Given the description of an element on the screen output the (x, y) to click on. 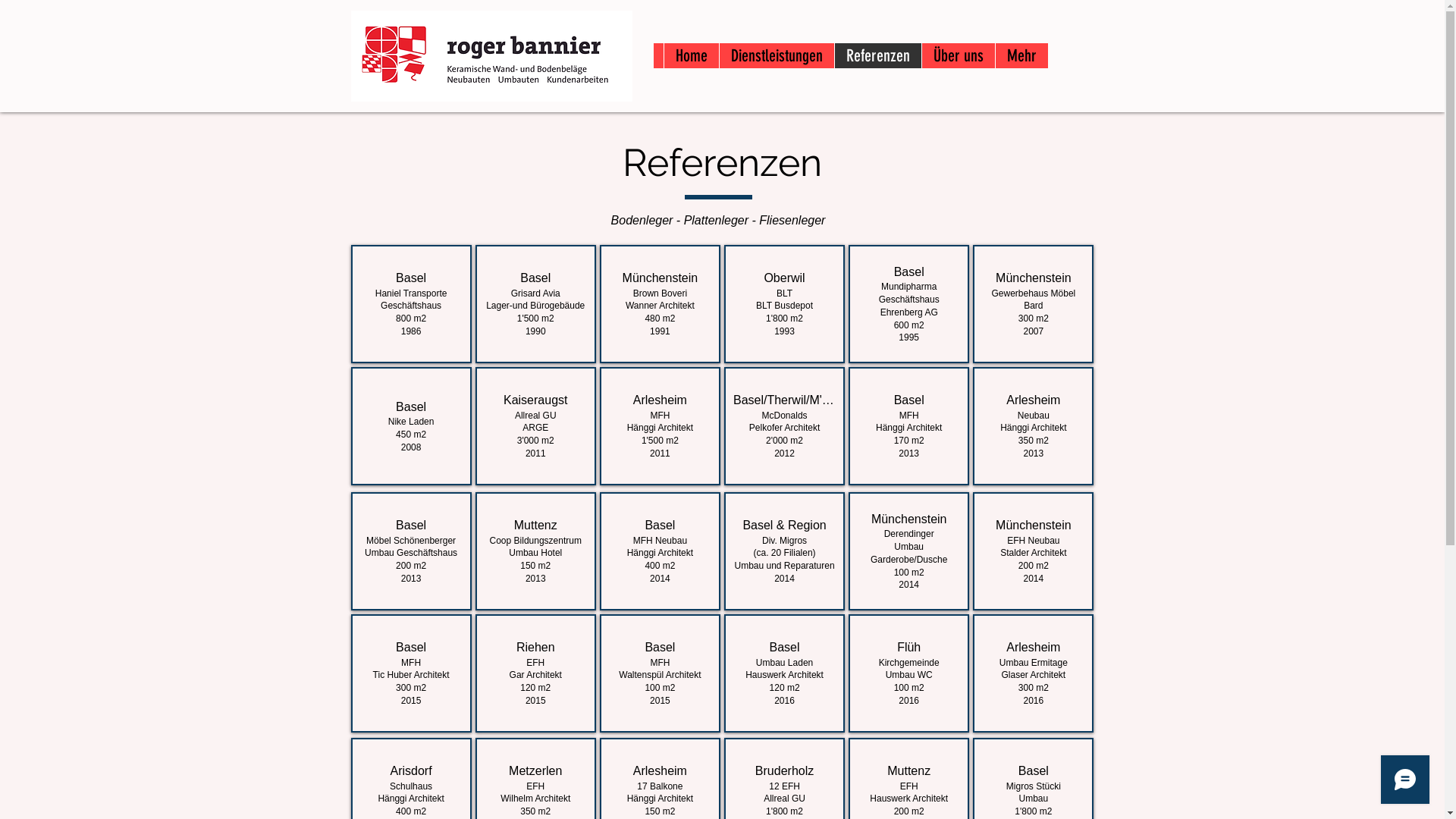
Home Element type: text (690, 55)
Dienstleistungen Element type: text (776, 55)
Referenzen Element type: text (877, 55)
